Given the description of an element on the screen output the (x, y) to click on. 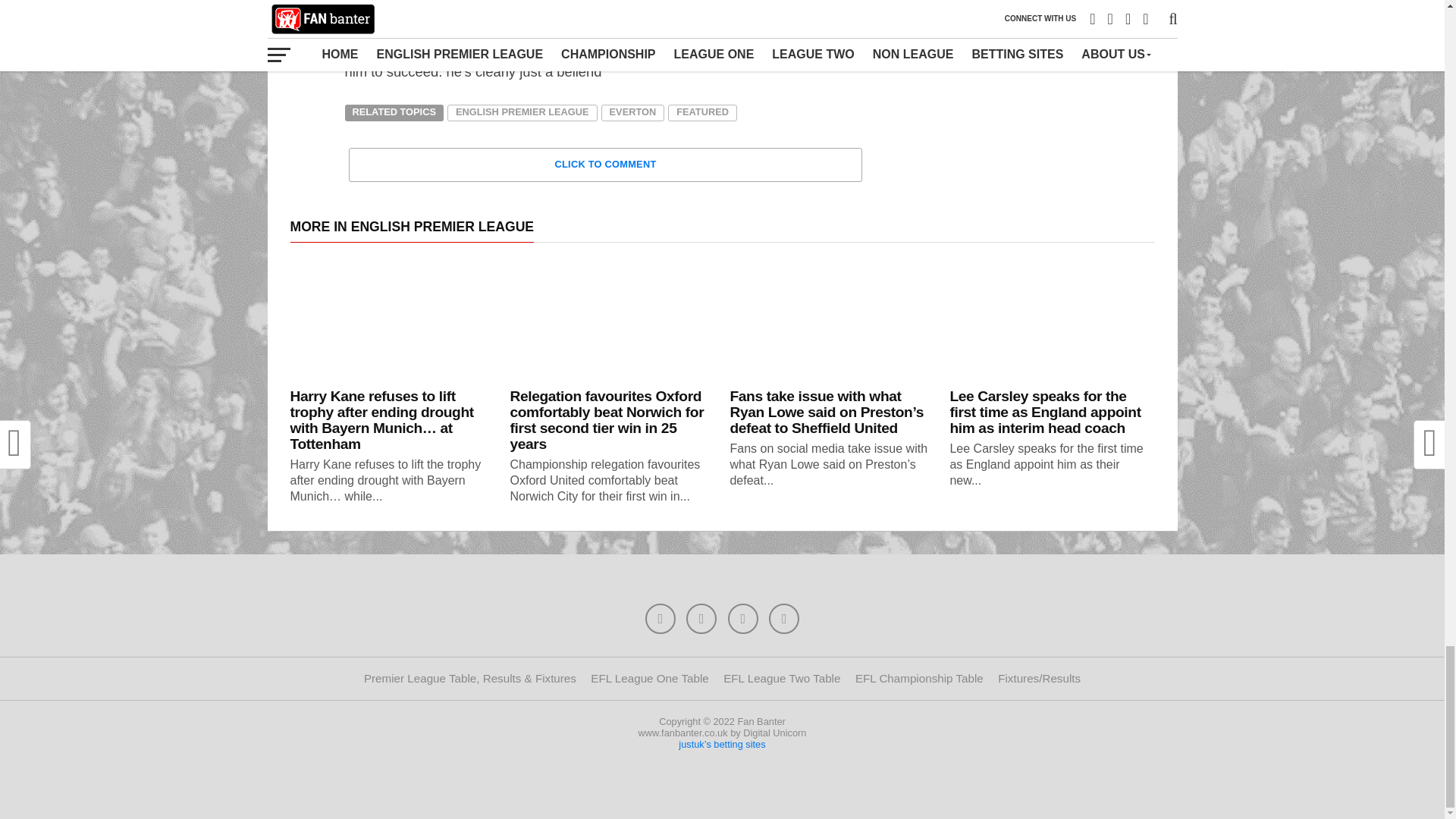
EVERTON (633, 112)
FEATURED (702, 112)
ENGLISH PREMIER LEAGUE (521, 112)
